Given the description of an element on the screen output the (x, y) to click on. 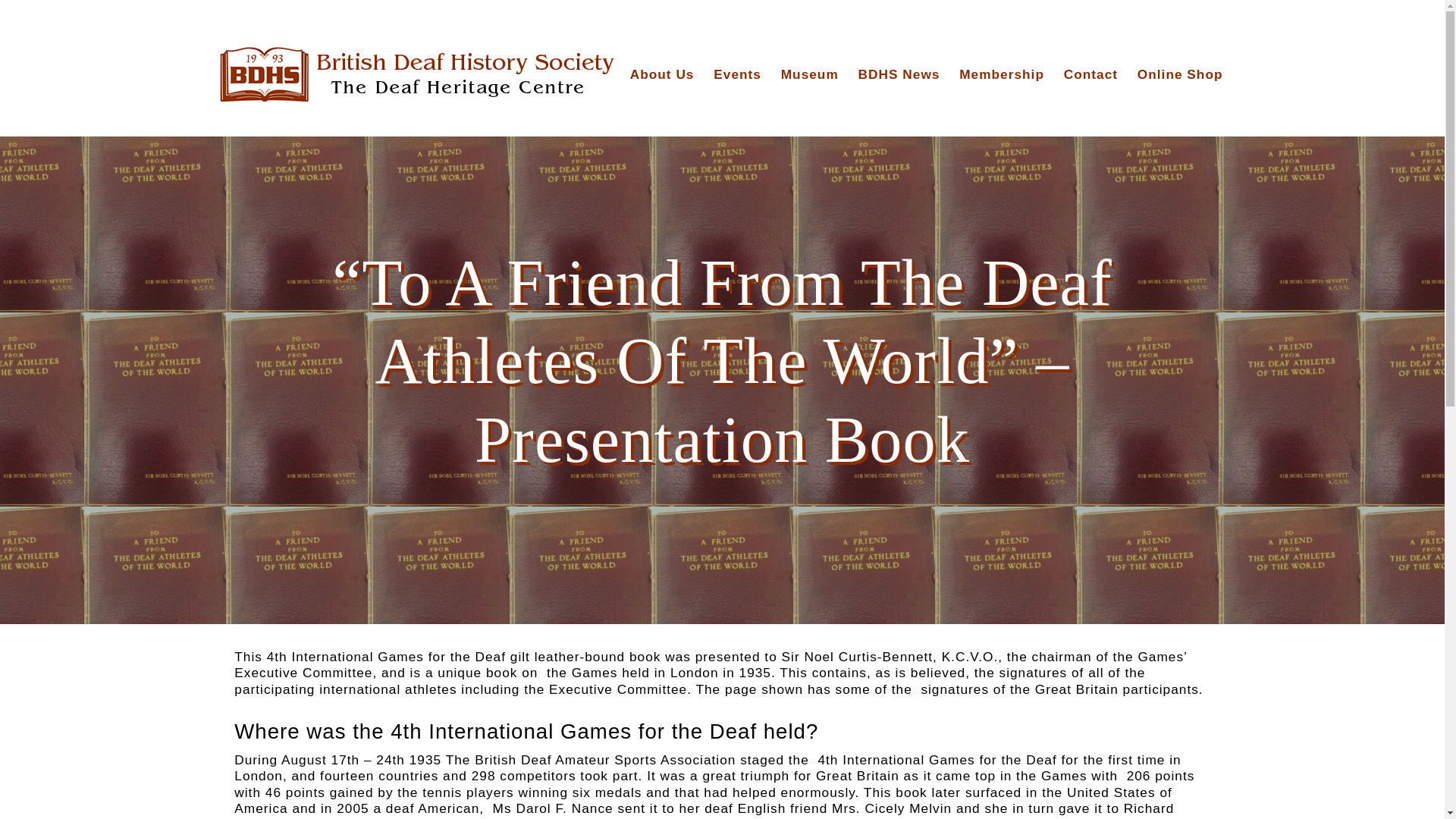
BDHS News (898, 74)
Online Shop (1179, 74)
Events (737, 74)
About Us (662, 74)
Museum (809, 74)
Contact (1091, 74)
Membership (1001, 74)
British Deaf History Society (417, 75)
